Given the description of an element on the screen output the (x, y) to click on. 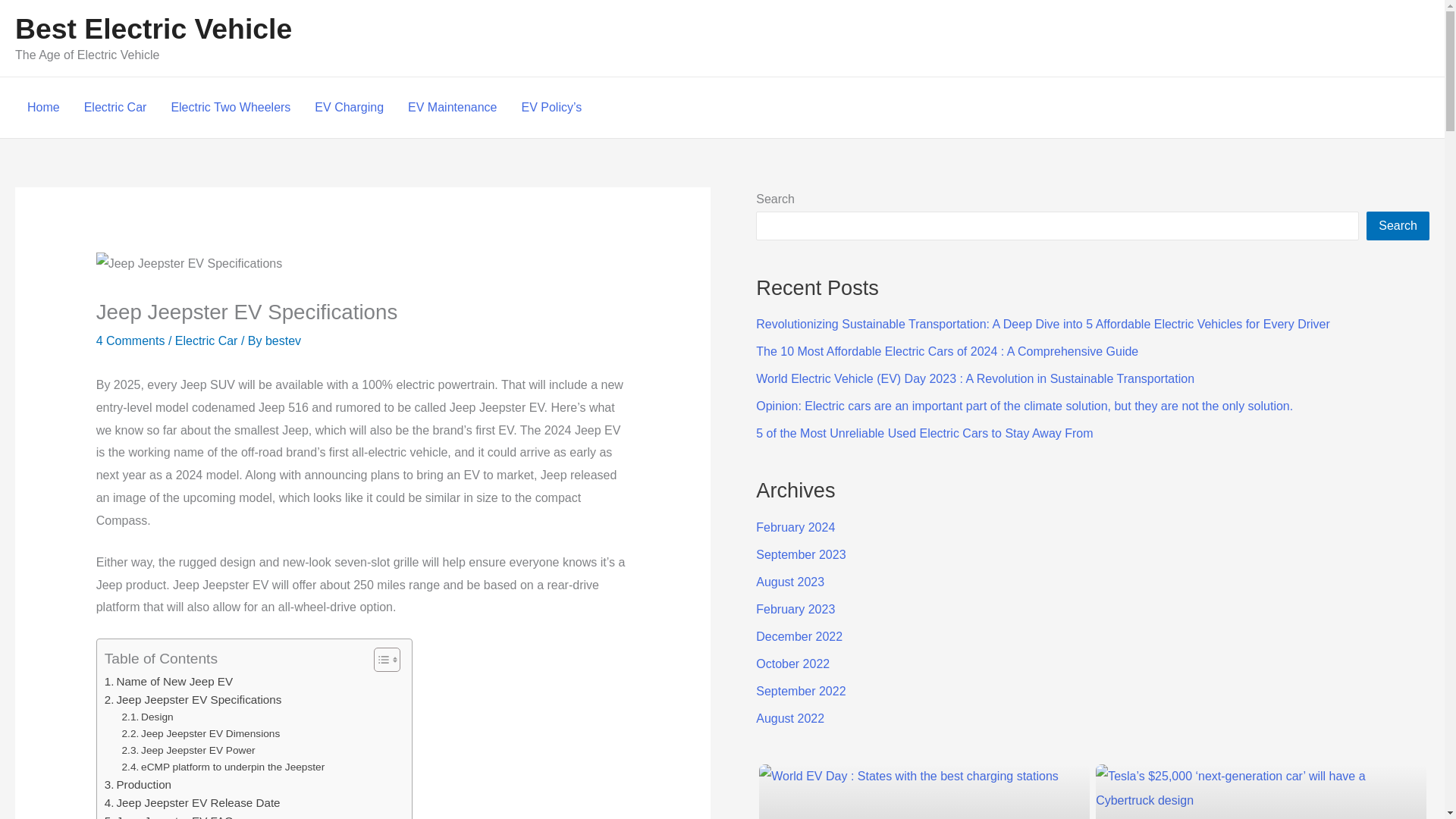
Jeep Jeepster EV FAQs (172, 815)
Jeep Jeepster EV Power (189, 750)
Design (147, 717)
eCMP platform to underpin the Jeepster (223, 767)
View all posts by bestev (282, 340)
Electric Car (206, 340)
bestev (282, 340)
Electric Car (114, 107)
Jeep Jeepster EV Dimensions (201, 733)
Design (147, 717)
Jeep Jeepster EV Specifications (193, 700)
Name of New Jeep EV (168, 681)
Jeep Jeepster EV Release Date (192, 802)
Production (137, 784)
Name of New Jeep EV (168, 681)
